Given the description of an element on the screen output the (x, y) to click on. 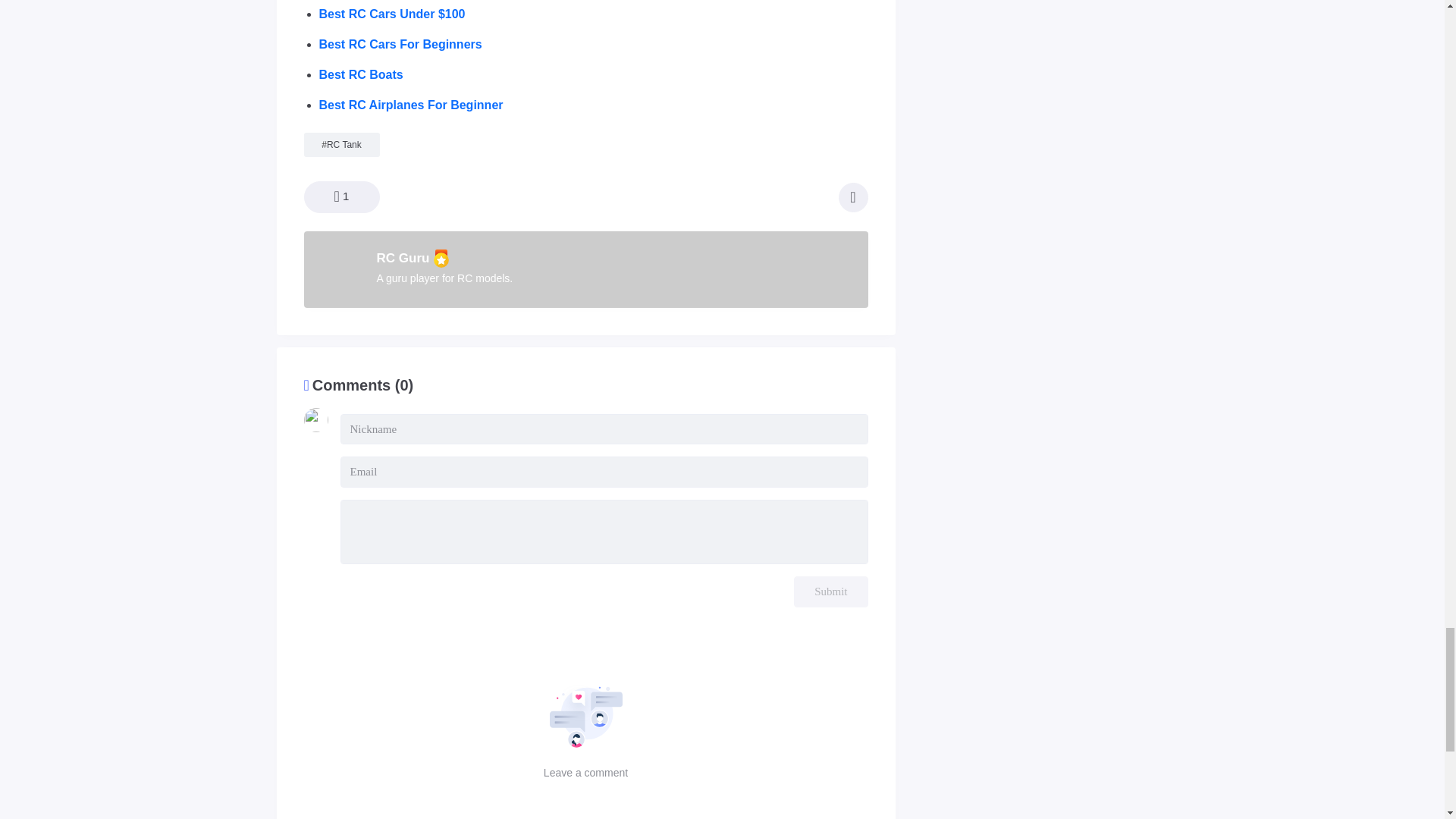
Best RC Airplanes For Beginner (410, 104)
Best RC Cars For Beginners (399, 43)
RC Tank (343, 144)
Best RC Boats (360, 74)
1 (340, 196)
